Given the description of an element on the screen output the (x, y) to click on. 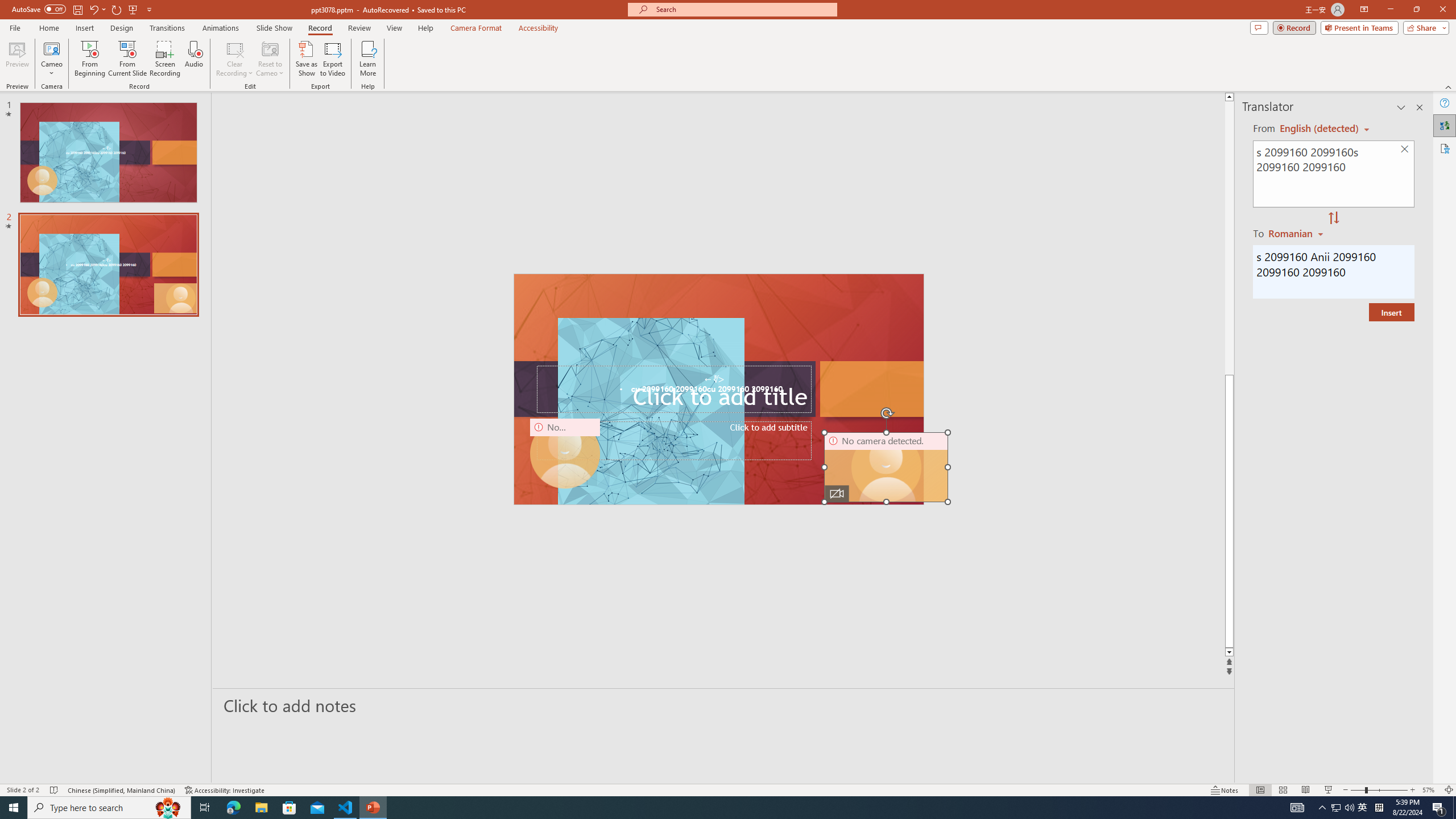
Translator (1444, 125)
Home (48, 28)
Design (122, 28)
More Options (51, 68)
Comments (1259, 27)
Swap "from" and "to" languages. (1333, 218)
An abstract genetic concept (718, 389)
Redo (117, 9)
Microsoft search (742, 9)
